Given the description of an element on the screen output the (x, y) to click on. 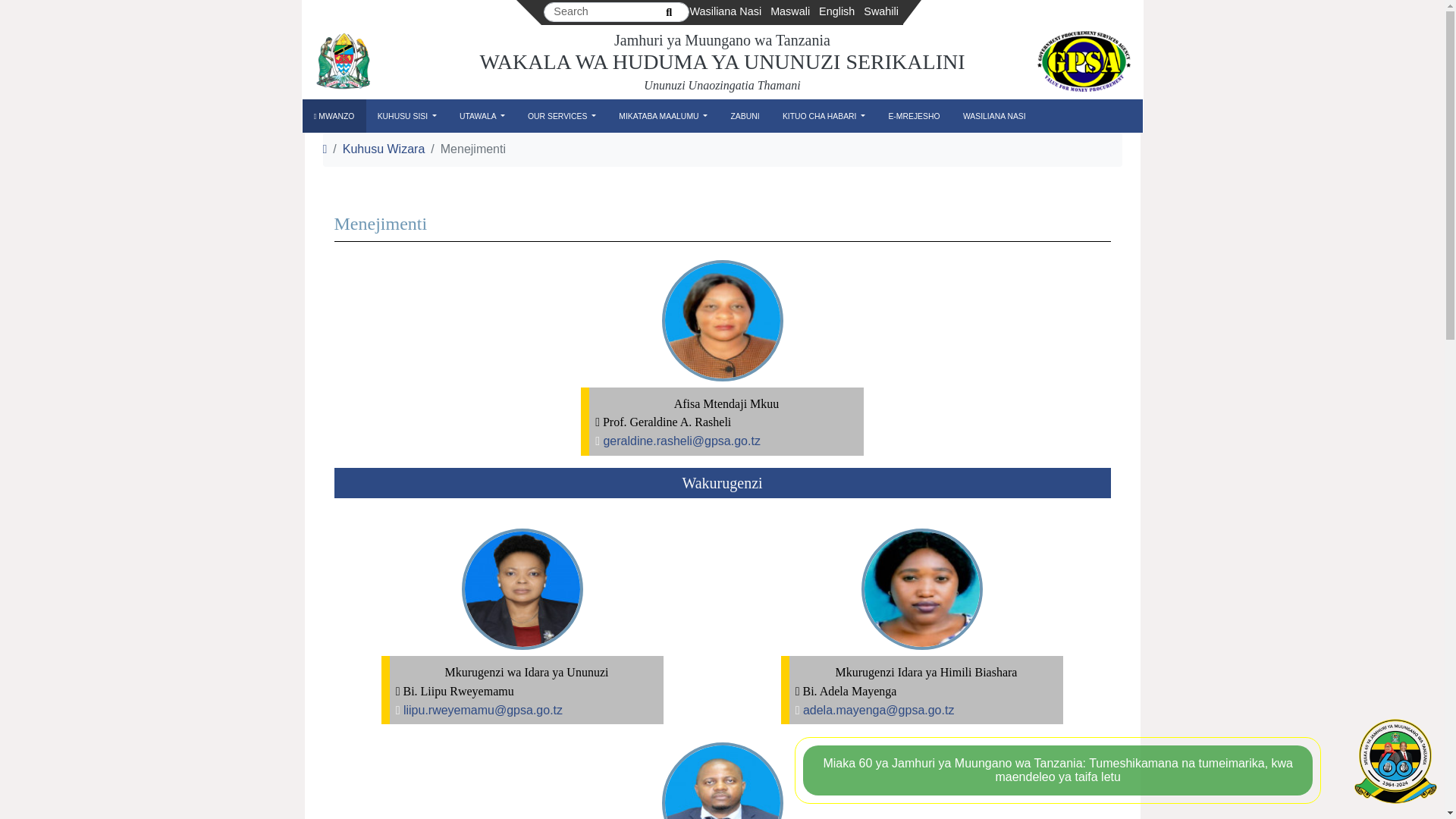
KITUO CHA HABARI (823, 116)
OUR SERVICES (561, 116)
E-MREJESHO (913, 116)
KUHUSU SISI (406, 116)
ZABUNI (744, 116)
Wasiliana Nasi (724, 11)
MIKATABA MAALUMU (662, 116)
WASILIANA NASI (994, 116)
Swahili (880, 11)
Maswali (789, 11)
English (836, 11)
UTAWALA (481, 116)
